Given the description of an element on the screen output the (x, y) to click on. 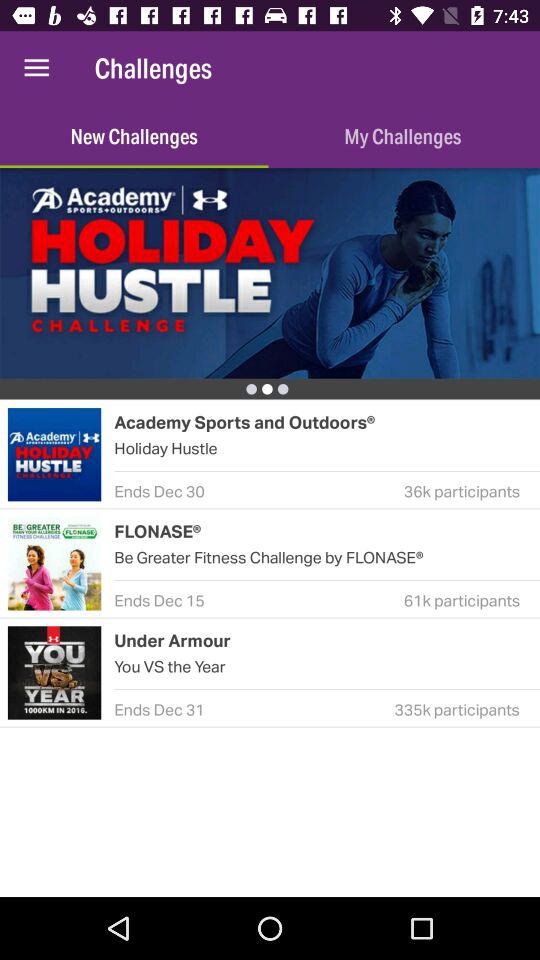
to display banner (270, 273)
